Given the description of an element on the screen output the (x, y) to click on. 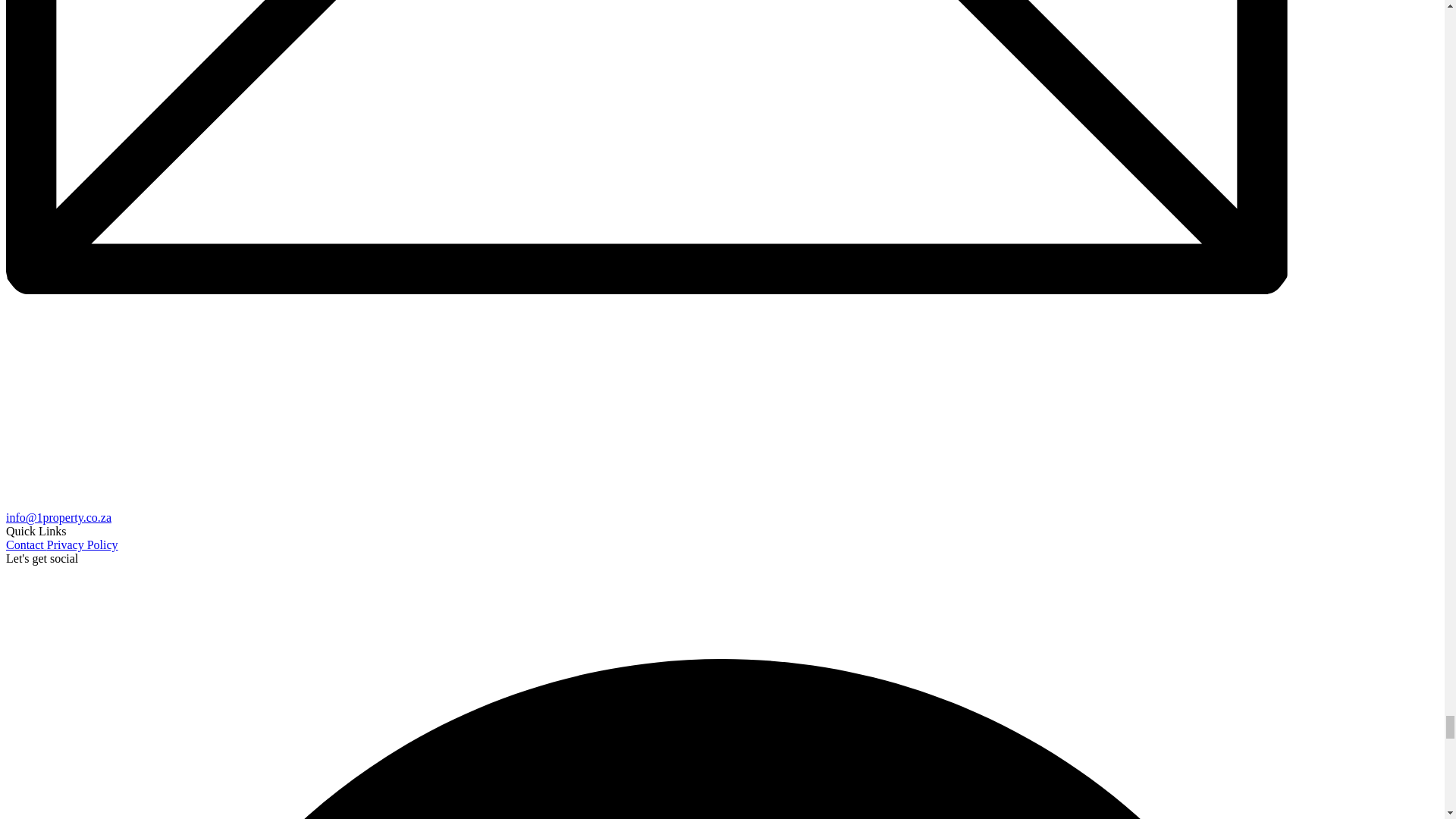
Contact (25, 544)
Privacy Policy (81, 544)
